Given the description of an element on the screen output the (x, y) to click on. 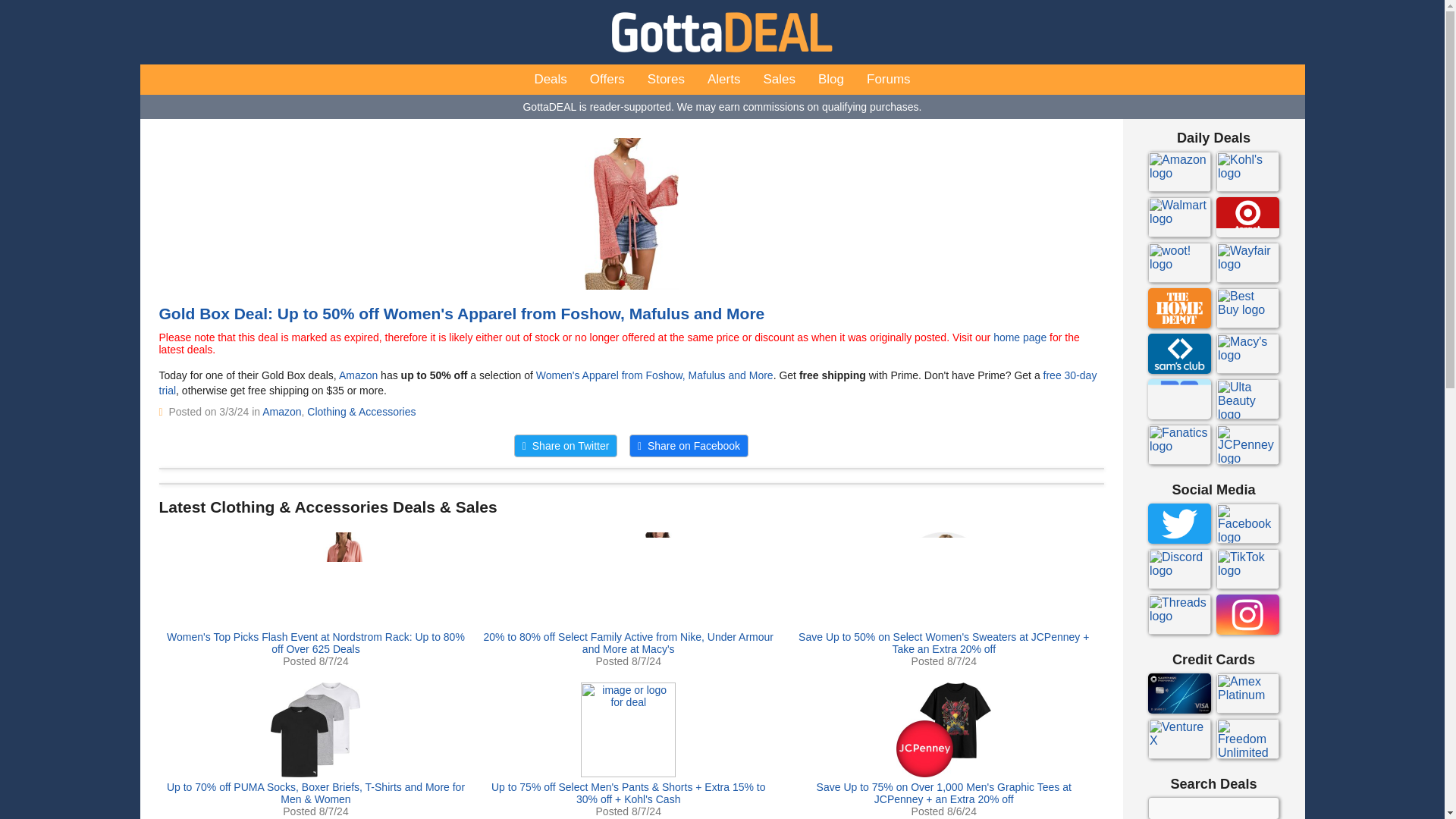
Offers (607, 79)
Alerts (723, 79)
Sales (778, 79)
free 30-day trial (627, 382)
Amazon (358, 375)
Women's Apparel from Foshow, Mafulus and More (654, 375)
Blog (831, 79)
  Share on Twitter (565, 445)
  Share on Facebook (688, 445)
